Given the description of an element on the screen output the (x, y) to click on. 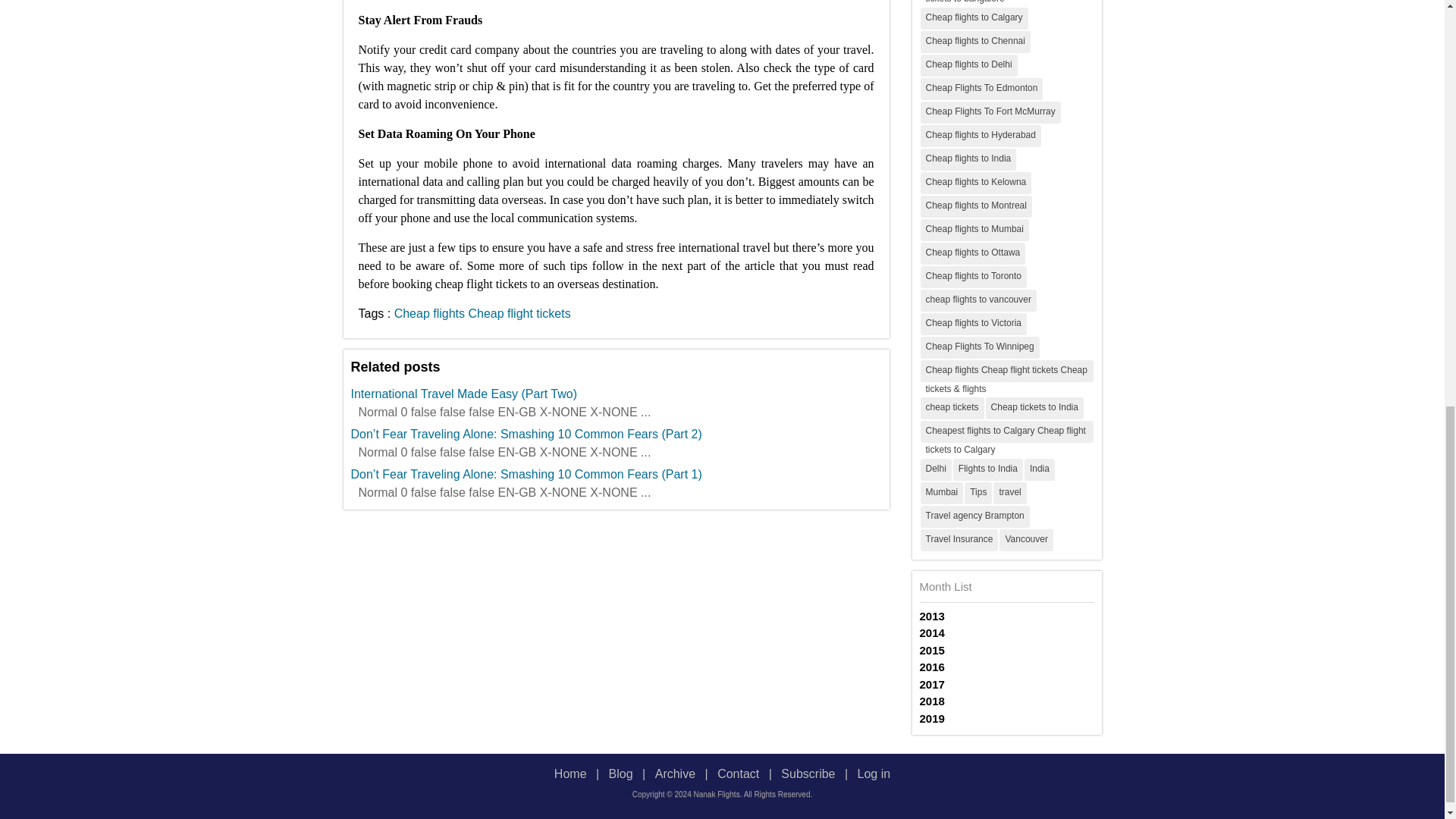
Cheap flights Cheap flight tickets (482, 312)
Cheap flights to Delhi (968, 65)
Cheap flights to Chennai (975, 41)
Cheap Flights To Edmonton (981, 87)
Cheap flights to Calgary (973, 18)
